Given the description of an element on the screen output the (x, y) to click on. 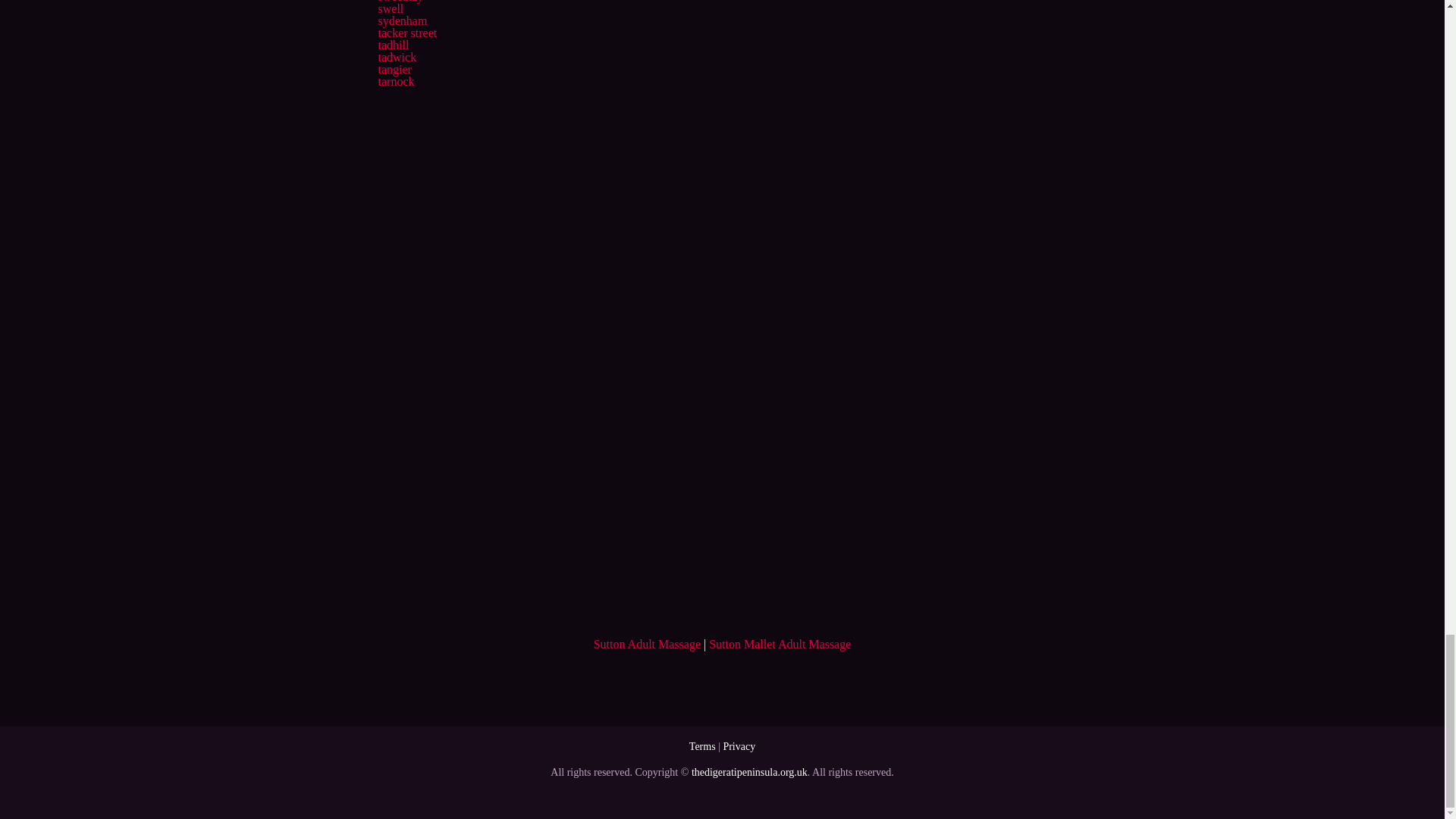
sweethay (400, 1)
tadwick (396, 56)
Terms (702, 746)
Sutton Adult Massage (647, 644)
tarnock (395, 81)
Terms (702, 746)
Sutton Mallet Adult Massage (779, 644)
swell (390, 8)
tacker street (406, 32)
sydenham (401, 20)
